Given the description of an element on the screen output the (x, y) to click on. 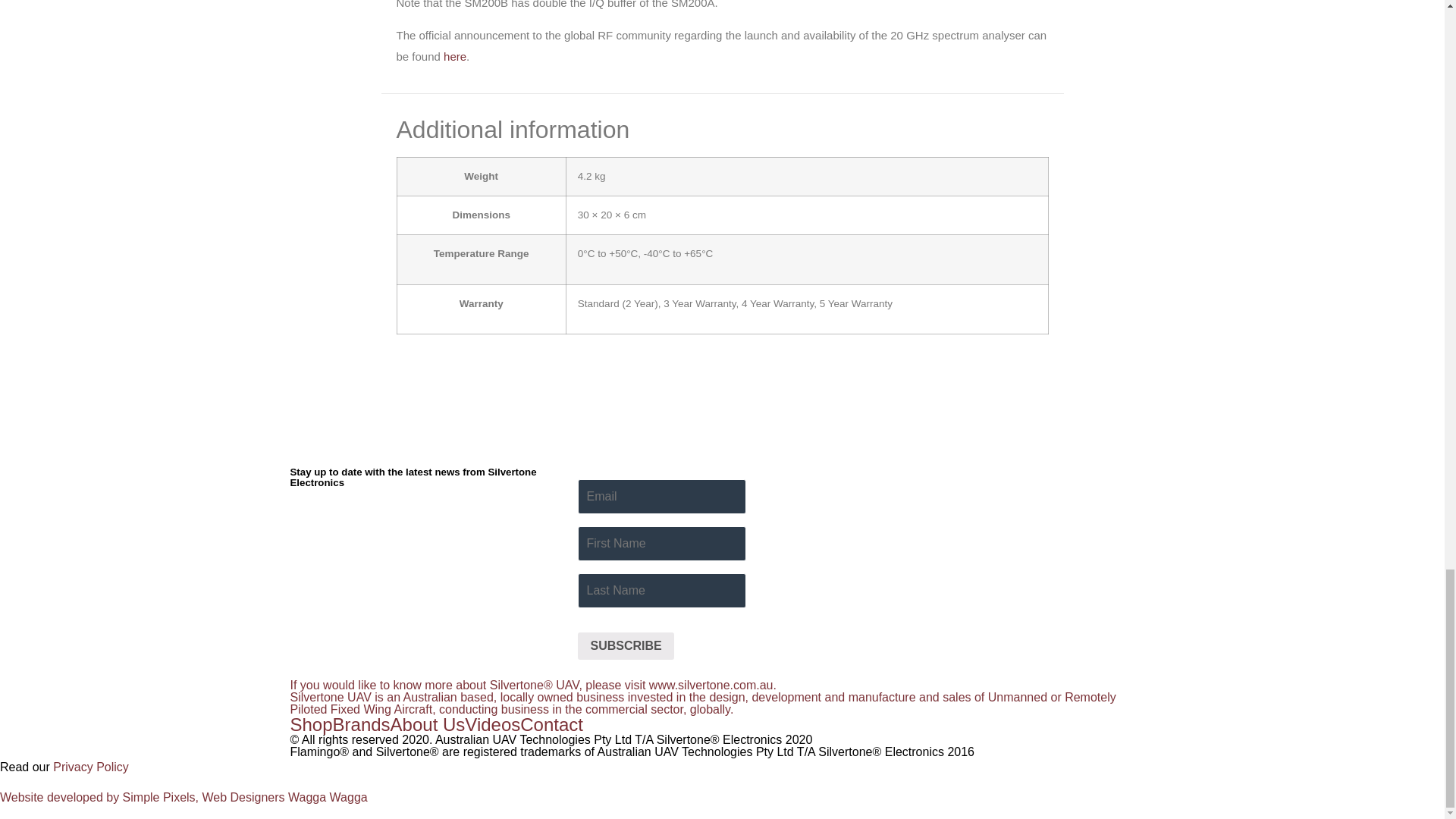
SUBSCRIBE (625, 646)
